Given the description of an element on the screen output the (x, y) to click on. 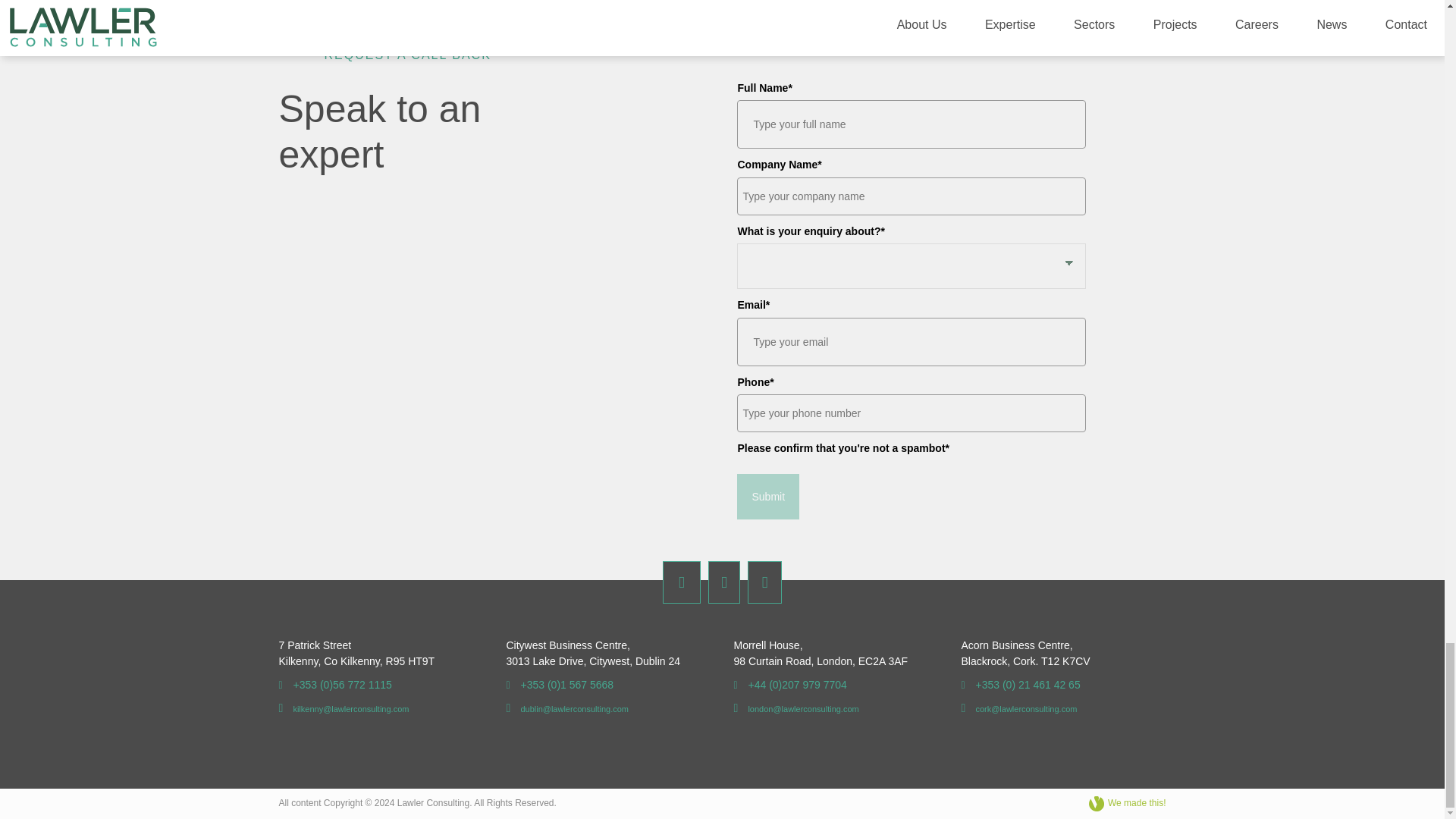
Link to email Lawler Consulting (567, 708)
Link to call Dublin Office (560, 684)
Link to call Kilkenny Office (335, 684)
Link to Lawler Consulting Facebook Page (681, 582)
Link to email Lawler Consulting (344, 708)
Link to email Lawler Consulting (796, 708)
Submit (767, 496)
We made this! (1127, 803)
Link to email Lawler Consulting (1018, 708)
Link to call London Office (790, 684)
Link to call Cork Office (1020, 684)
